Given the description of an element on the screen output the (x, y) to click on. 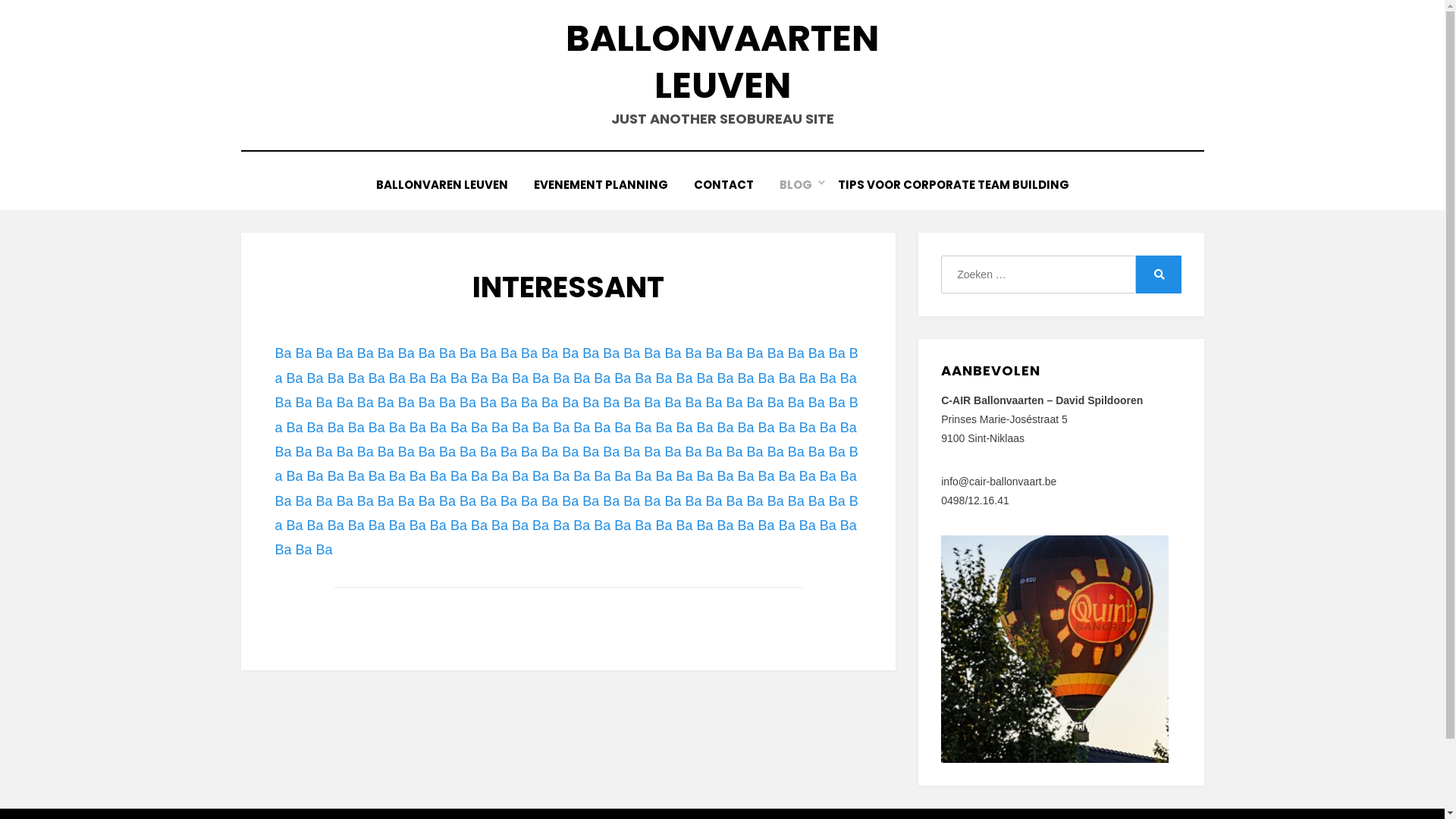
Ba Element type: text (827, 525)
Ba Element type: text (376, 525)
Ba Element type: text (725, 525)
Ba Element type: text (447, 451)
Ba Element type: text (827, 377)
Ba Element type: text (365, 451)
Ba Element type: text (601, 475)
Ba Element type: text (816, 402)
Ba Element type: text (417, 525)
Ba Element type: text (315, 377)
Ba Element type: text (397, 377)
Ba Element type: text (725, 475)
Ba Element type: text (324, 451)
Ba Element type: text (335, 525)
Ba Element type: text (406, 500)
Ba Element type: text (303, 402)
info@cair-ballonvaart.be Element type: text (998, 481)
Ba Element type: text (795, 402)
Ba Element type: text (294, 525)
Ba Element type: text (458, 475)
Ba Element type: text (519, 377)
Ba Element type: text (816, 352)
Ba Element type: text (324, 402)
Ba Element type: text (827, 475)
Ba Element type: text (704, 427)
Zoeken Element type: text (1158, 274)
EVENEMENT PLANNING Element type: text (600, 184)
Ba Element type: text (324, 500)
Ba Element type: text (590, 451)
Ba Element type: text (560, 475)
Ba Element type: text (294, 377)
Ba Element type: text (713, 352)
Ba Element type: text (807, 475)
Ba Element type: text (540, 525)
Ba Element type: text (795, 500)
Ba Element type: text (458, 377)
Ba Element type: text (692, 402)
Ba Element type: text (397, 475)
Ba Element type: text (672, 500)
Ba Element type: text (683, 377)
Ba Element type: text (622, 427)
Ba Element type: text (447, 500)
Ba Element type: text (651, 352)
Ba Element type: text (651, 500)
Ba Element type: text (807, 377)
Ba Element type: text (766, 475)
Ba Element type: text (549, 451)
Ba Element type: text (692, 451)
Ba Element type: text (713, 451)
Ba Element type: text (528, 402)
Ba Element type: text (488, 500)
Ba Element type: text (569, 352)
Ba Element type: text (754, 352)
Ba Element type: text (356, 427)
Ba Element type: text (437, 475)
Ba Element type: text (356, 525)
Ba Element type: text (528, 451)
Ba Element type: text (458, 525)
Ba Element type: text (754, 451)
Ba Element type: text (406, 352)
Ba Element type: text (376, 427)
Ba Element type: text (447, 402)
BALLONVAREN LEUVEN Element type: text (441, 184)
Ba Element type: text (467, 500)
Ba Element type: text (397, 525)
Ba Element type: text (672, 402)
Ba Element type: text (356, 475)
Zoeken naar: Element type: hover (1038, 274)
Ba Element type: text (836, 451)
Ba Element type: text (417, 377)
Ba Element type: text (447, 352)
Ba Element type: text (651, 451)
Ba Element type: text (651, 402)
Ba Element type: text (303, 352)
Ba Element type: text (590, 402)
Ba Element type: text (315, 475)
Ba Element type: text (683, 427)
Ba Element type: text (519, 475)
Ba Element type: text (622, 377)
Ba Element type: text (622, 475)
Ba Element type: text (775, 451)
Ba Element type: text (294, 427)
Ba Element type: text (601, 377)
Ba Element type: text (344, 451)
Ba Element type: text (663, 377)
Ba Element type: text (754, 500)
Ba Element type: text (581, 427)
Ba Element type: text (766, 427)
Ba Element type: text (704, 475)
Ba Element type: text (610, 352)
Ba Element type: text (836, 500)
BLOG Element type: text (794, 184)
Ba Element type: text (488, 451)
Ba Element type: text (848, 525)
Ba Element type: text (631, 352)
Ba Element type: text (478, 525)
Ba Element type: text (725, 427)
Ba Element type: text (478, 377)
Ba Element type: text (692, 352)
Ba Element type: text (540, 377)
Ba Element type: text (704, 377)
Ba Element type: text (816, 500)
Ba Element type: text (786, 427)
Ba Element type: text (565, 463)
Ba Element type: text (335, 377)
Ba Element type: text (754, 402)
Ba Element type: text (683, 475)
Ba Element type: text (303, 500)
Ba Element type: text (581, 525)
Ba Element type: text (499, 377)
Ba Element type: text (528, 352)
Ba Element type: text (499, 525)
Ba Element type: text (569, 451)
Ba Element type: text (848, 475)
Ba Element type: text (467, 402)
Ba Element type: text (725, 377)
Ba Element type: text (540, 427)
Ba Element type: text (519, 427)
Ba Element type: text (672, 451)
Ba Element type: text (335, 427)
Ba Element type: text (282, 402)
Ba Element type: text (663, 475)
Ba Element type: text (508, 500)
Ba Element type: text (560, 427)
Ba Element type: text (775, 402)
Ba Element type: text (385, 500)
Ba Element type: text (560, 525)
Ba Element type: text (282, 352)
Ba Element type: text (397, 427)
Ba Element type: text (631, 500)
Ba Element type: text (282, 500)
Ba Element type: text (335, 475)
Ba Element type: text (766, 525)
Ba Element type: text (766, 377)
Ba Element type: text (642, 475)
Ba Element type: text (385, 352)
Ba Element type: text (437, 427)
Ba Element type: text (590, 352)
Ba Element type: text (601, 427)
Ba Element type: text (610, 402)
Ba Element type: text (745, 525)
Ba Element type: text (344, 352)
Ba Element type: text (704, 525)
Ba Element type: text (499, 427)
Ba Element type: text (282, 549)
Ba Element type: text (807, 525)
Ba Element type: text (836, 402)
Ba Element type: text (508, 402)
Ba Element type: text (745, 377)
Ba Element type: text (795, 352)
Ba Element type: text (540, 475)
Ba Element type: text (315, 427)
Ba Element type: text (437, 525)
Ba Element type: text (426, 500)
Ba Element type: text (426, 451)
Ba Element type: text (508, 352)
Ba Element type: text (488, 352)
Ba Element type: text (324, 352)
Ba Element type: text (365, 500)
Ba Element type: text (488, 402)
Ba Element type: text (324, 549)
Ba Element type: text (467, 352)
Ba Element type: text (581, 377)
Ba Element type: text (508, 451)
Ba Element type: text (683, 525)
Ba Element type: text (786, 377)
Ba Element type: text (417, 475)
Ba Element type: text (294, 475)
Ba Element type: text (775, 352)
Ba Element type: text (549, 500)
Ba Element type: text (734, 500)
Ba Element type: text (303, 549)
Ba Element type: text (836, 352)
Ba Element type: text (406, 451)
Ba Element type: text (303, 451)
Ba Element type: text (426, 402)
Ba Element type: text (437, 377)
Ba Element type: text (734, 402)
Ba Element type: text (344, 402)
Ba Element type: text (807, 427)
Ba Element type: text (385, 451)
Ba Element type: text (467, 451)
TIPS VOOR CORPORATE TEAM BUILDING Element type: text (953, 184)
Ba Element type: text (663, 427)
Ba Element type: text (786, 475)
Ba Element type: text (528, 500)
Ba Element type: text (631, 451)
Ba Element type: text (499, 475)
Ba Element type: text (385, 402)
Ba Element type: text (581, 475)
Ba Element type: text (519, 525)
Ba Element type: text (713, 402)
Ba Element type: text (601, 525)
Ba Element type: text (549, 402)
Ba Element type: text (622, 525)
BALLONVAARTEN LEUVEN Element type: text (721, 61)
Ba Element type: text (376, 377)
Ba Element type: text (590, 500)
Ba Element type: text (560, 377)
Ba Element type: text (827, 427)
Ba Element type: text (406, 402)
Ba Element type: text (713, 500)
Ba Element type: text (315, 525)
Ba Element type: text (775, 500)
Ba Element type: text (565, 513)
Ba Element type: text (549, 352)
Ba Element type: text (478, 475)
Ba Element type: text (672, 352)
Ba Element type: text (786, 525)
Ba Element type: text (569, 402)
CONTACT Element type: text (723, 184)
Ba Element type: text (745, 427)
Ba Element type: text (642, 377)
Ba Element type: text (816, 451)
Ba Element type: text (356, 377)
Ba Element type: text (365, 352)
Ba Element type: text (610, 500)
Ba Element type: text (734, 352)
Ba Element type: text (848, 427)
Ba Element type: text (426, 352)
0498/12.16.41 Element type: text (975, 500)
Ba Element type: text (417, 427)
Ba Element type: text (692, 500)
Ba Element type: text (642, 427)
Ba Element type: text (795, 451)
Ba Element type: text (458, 427)
Ba Element type: text (610, 451)
Ba Element type: text (376, 475)
Ba Element type: text (365, 402)
Ba Element type: text (344, 500)
Ba Element type: text (569, 500)
Ba Element type: text (282, 451)
Ba Element type: text (642, 525)
Ba Element type: text (565, 414)
Ba Element type: text (663, 525)
Ba Element type: text (478, 427)
Ba Element type: text (745, 475)
Ba Element type: text (848, 377)
Ba Element type: text (734, 451)
Ba Element type: text (631, 402)
Ba Element type: text (565, 365)
